Given the description of an element on the screen output the (x, y) to click on. 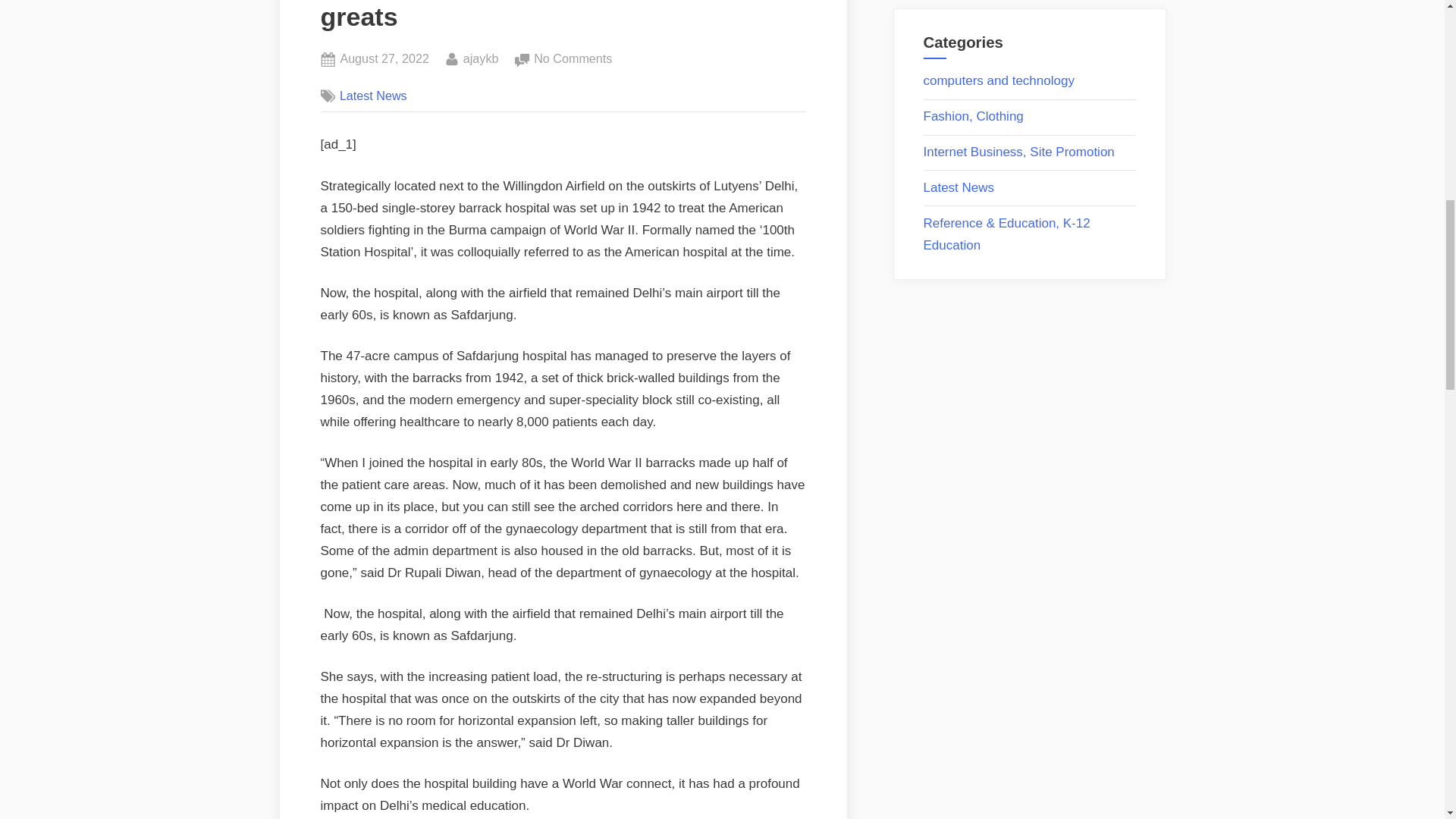
Latest News (958, 187)
Internet Business, Site Promotion (481, 58)
Fashion, Clothing (384, 58)
computers and technology (1019, 151)
Latest News (973, 115)
